Given the description of an element on the screen output the (x, y) to click on. 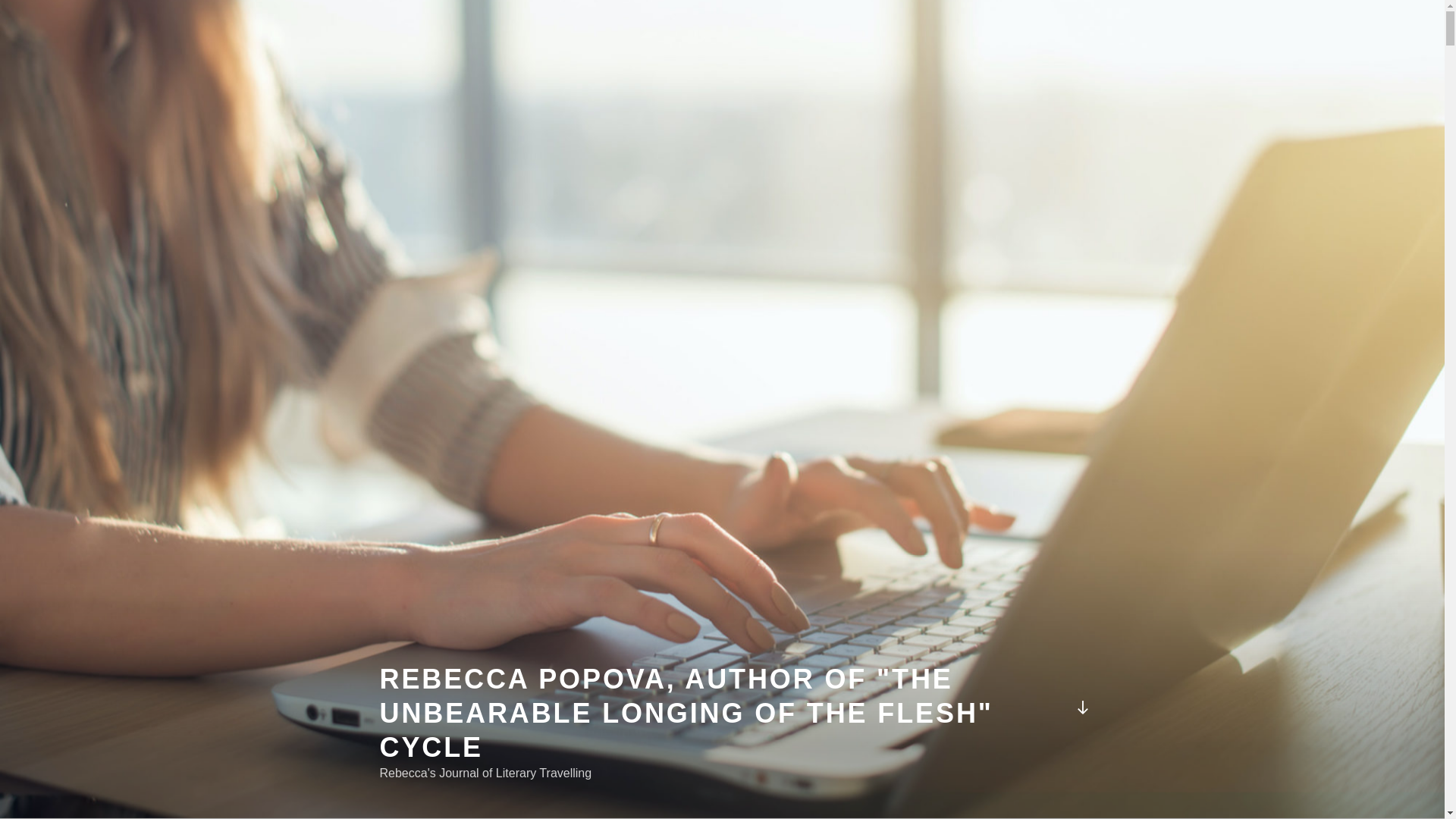
Scroll down to content (1081, 707)
Scroll down to content (1081, 707)
